Given the description of an element on the screen output the (x, y) to click on. 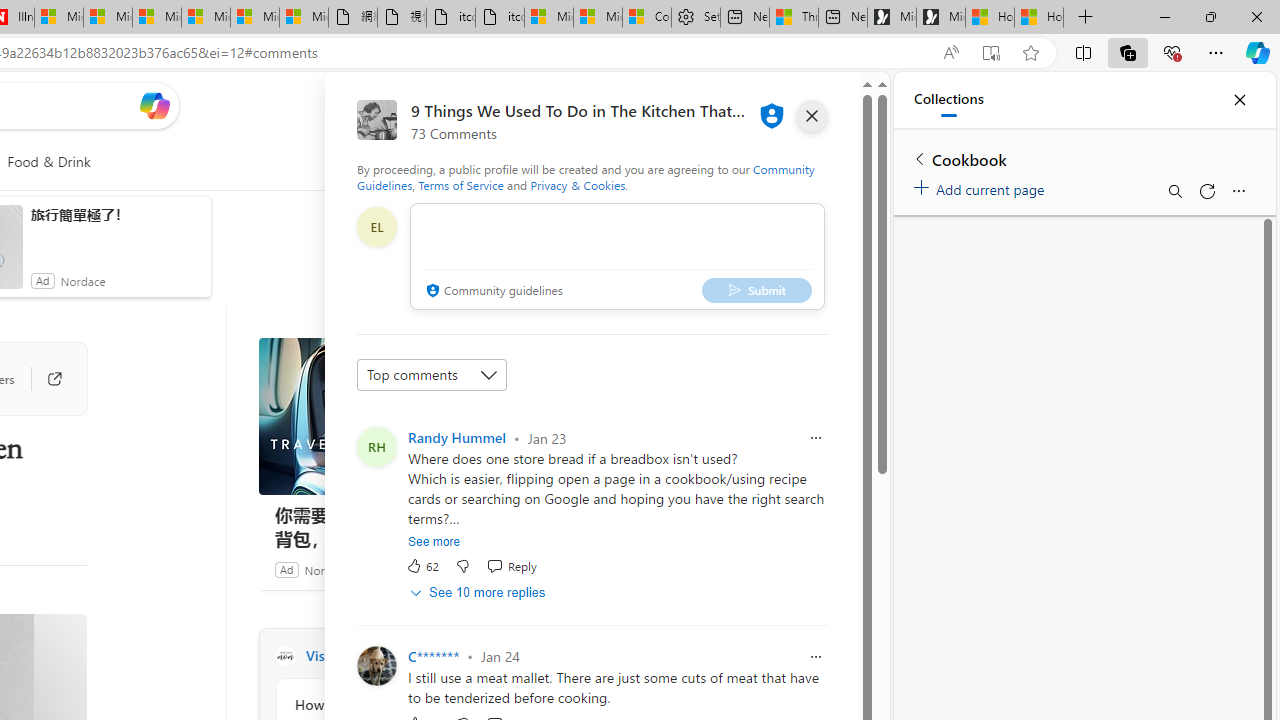
How to Use a TV as a Computer Monitor (1039, 17)
62 Like (422, 565)
Submit (756, 290)
Reply Reply Comment (511, 565)
close (812, 115)
Visit Secret Life of Mom website (532, 655)
See 10 more replies (479, 592)
Back to list of collections (920, 158)
